Given the description of an element on the screen output the (x, y) to click on. 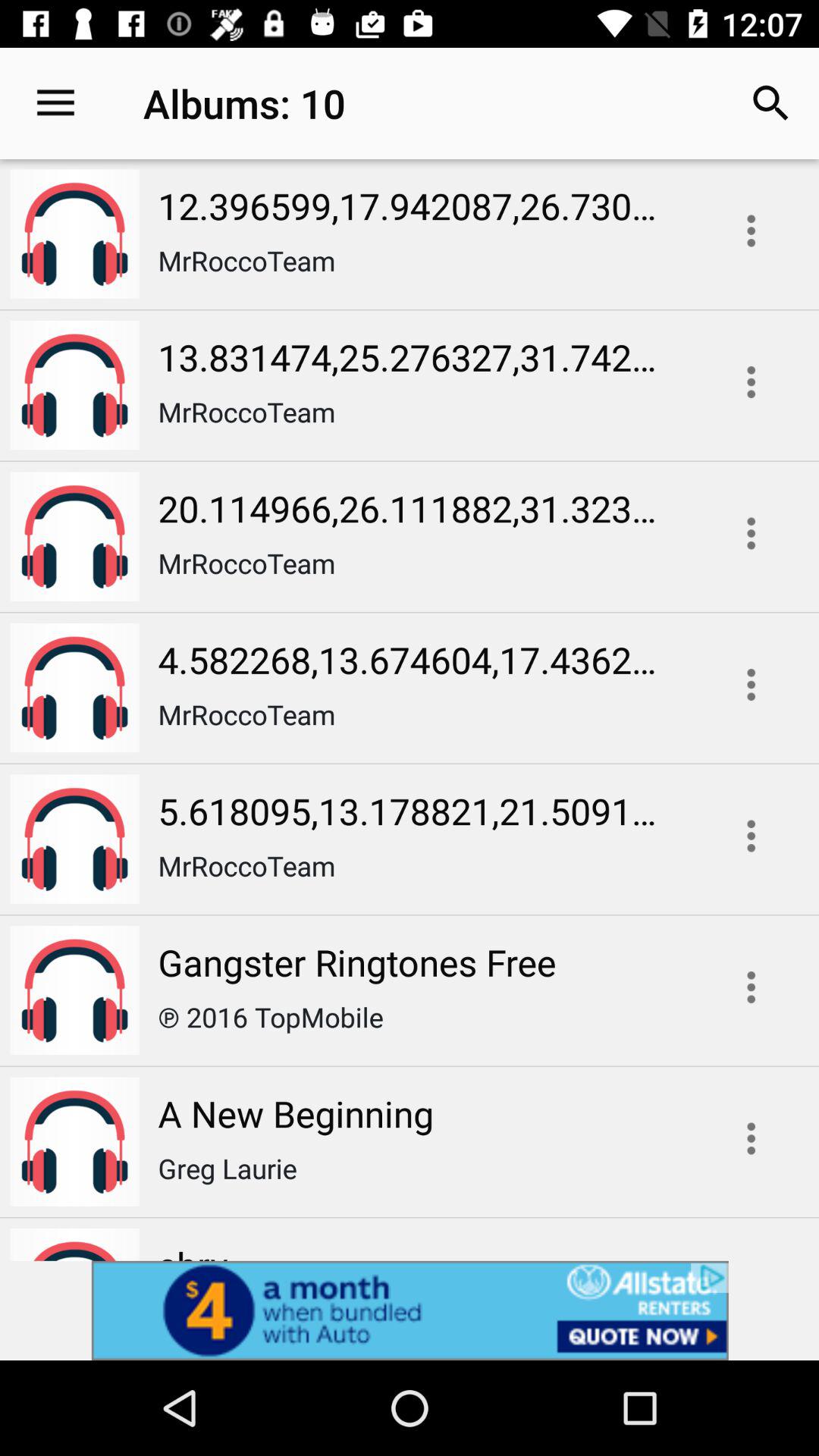
important to know (750, 1138)
